Given the description of an element on the screen output the (x, y) to click on. 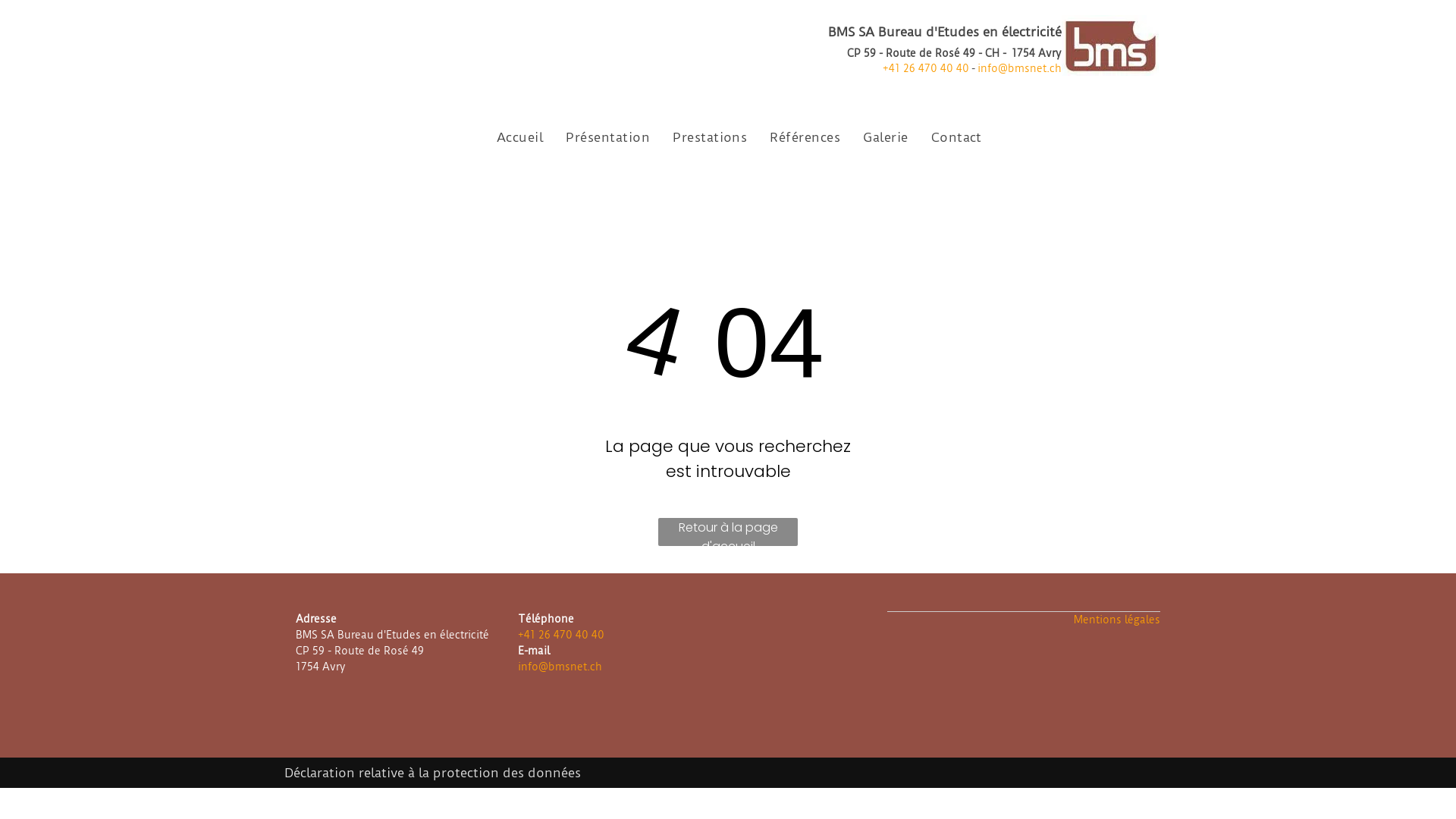
info@bmsnet.ch Element type: text (559, 666)
+41 26 470 40 40 Element type: text (925, 68)
+41 26 470 40 40 Element type: text (560, 634)
Accueil Element type: text (519, 136)
Contact Element type: text (956, 136)
Prestations Element type: text (709, 136)
info@bmsnet.ch Element type: text (1019, 68)
Galerie Element type: text (884, 136)
